Given the description of an element on the screen output the (x, y) to click on. 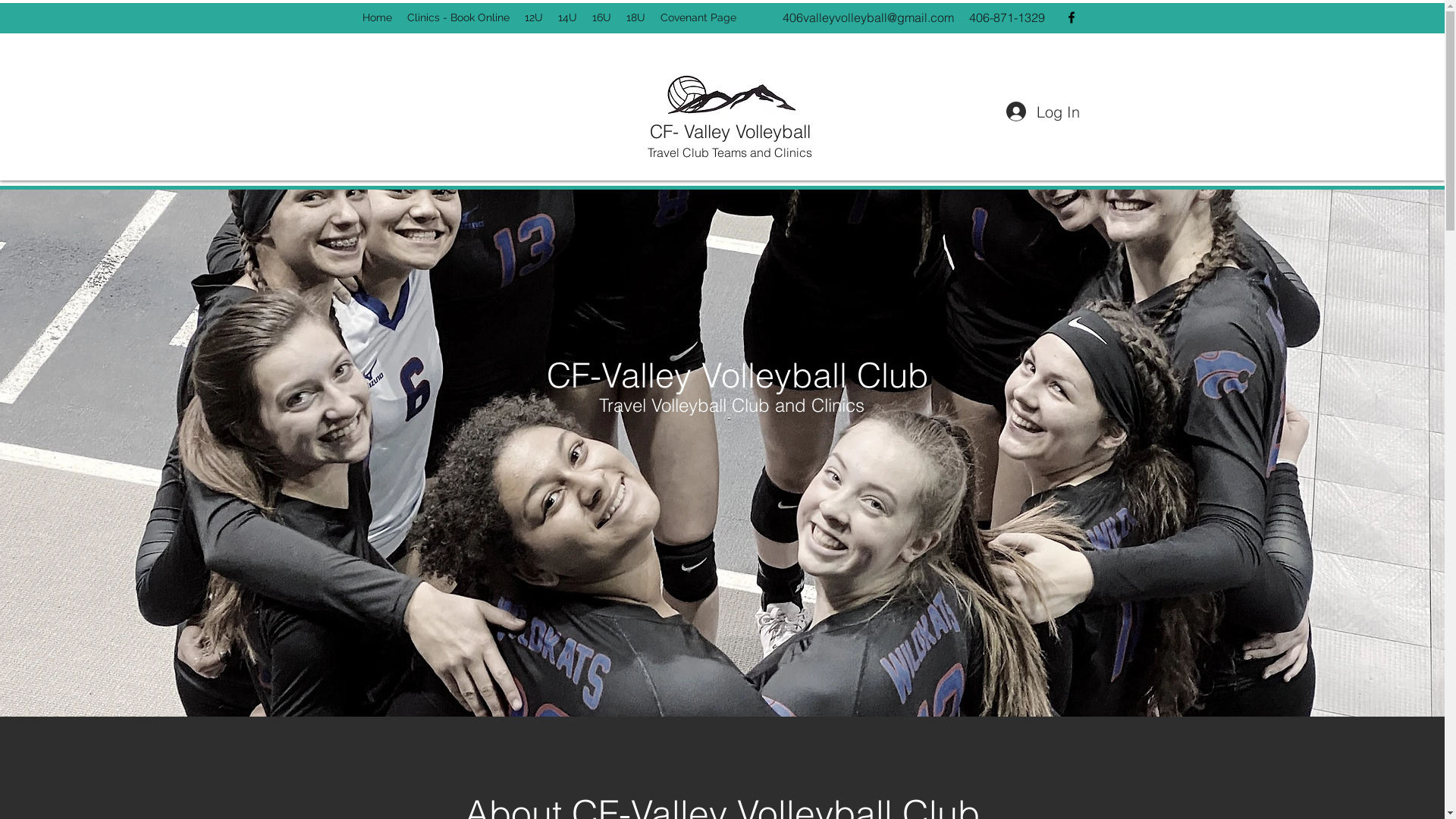
406valleyvolleyball@gmail.com Element type: text (867, 17)
Club Fee 2022
Price
$240.00 Element type: text (629, 120)
14U Element type: text (567, 17)
Home Element type: text (376, 17)
12U Element type: text (533, 17)
Clinics - Book Online Element type: text (457, 17)
Log In Element type: text (1039, 111)
16U Element type: text (600, 17)
CFalls Rally Tournament Fee
Price
$125.00 Element type: text (444, 120)
18U Element type: text (635, 17)
Covenant Page Element type: text (697, 17)
